Given the description of an element on the screen output the (x, y) to click on. 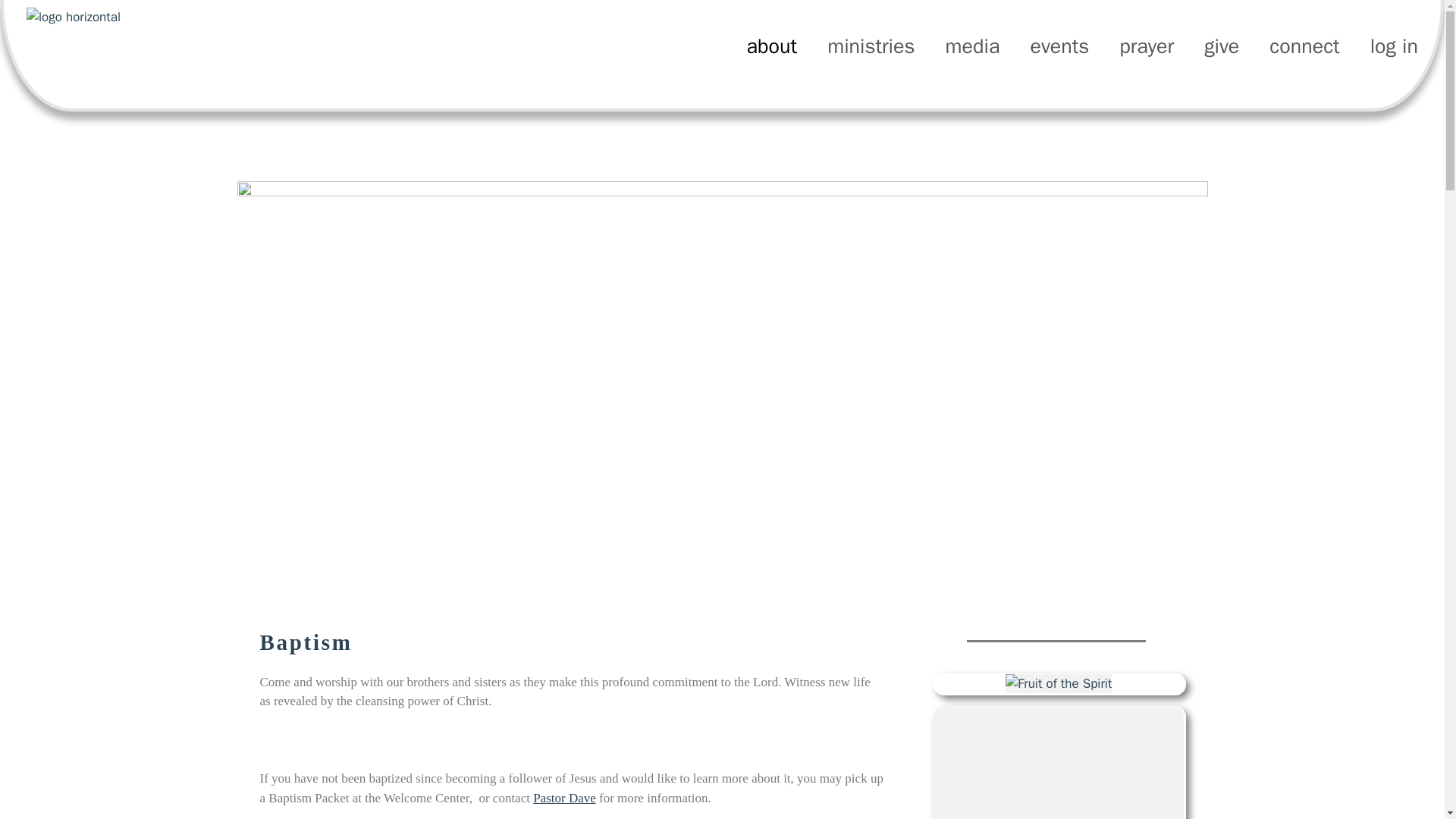
ministries (871, 46)
logo horizontal (139, 28)
about (772, 46)
